Given the description of an element on the screen output the (x, y) to click on. 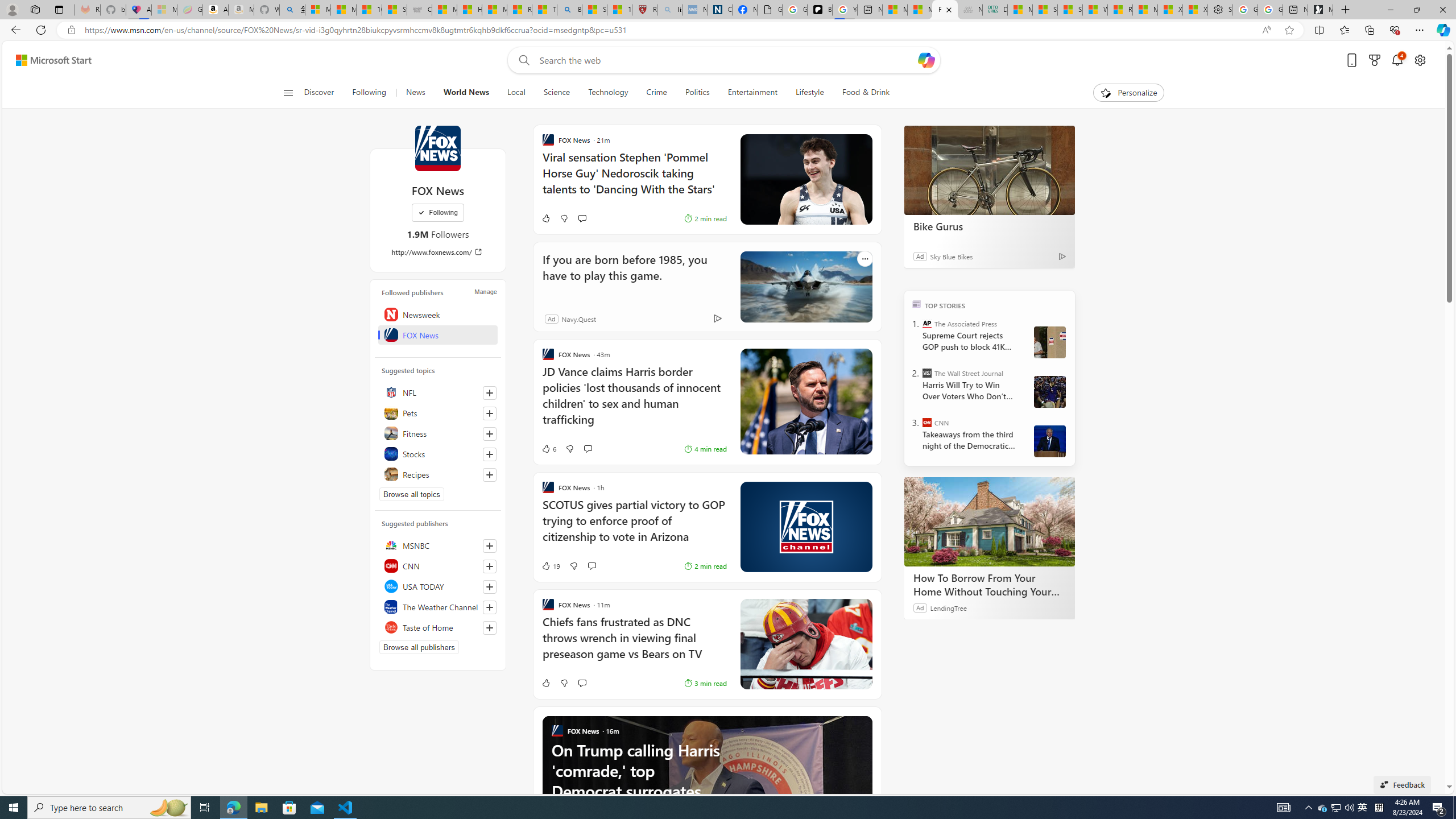
USA TODAY (437, 586)
Newsweek (437, 314)
Like (435, 682)
Asthma Inhalers: Names and Types (137, 9)
Browse all topics (412, 494)
